Given the description of an element on the screen output the (x, y) to click on. 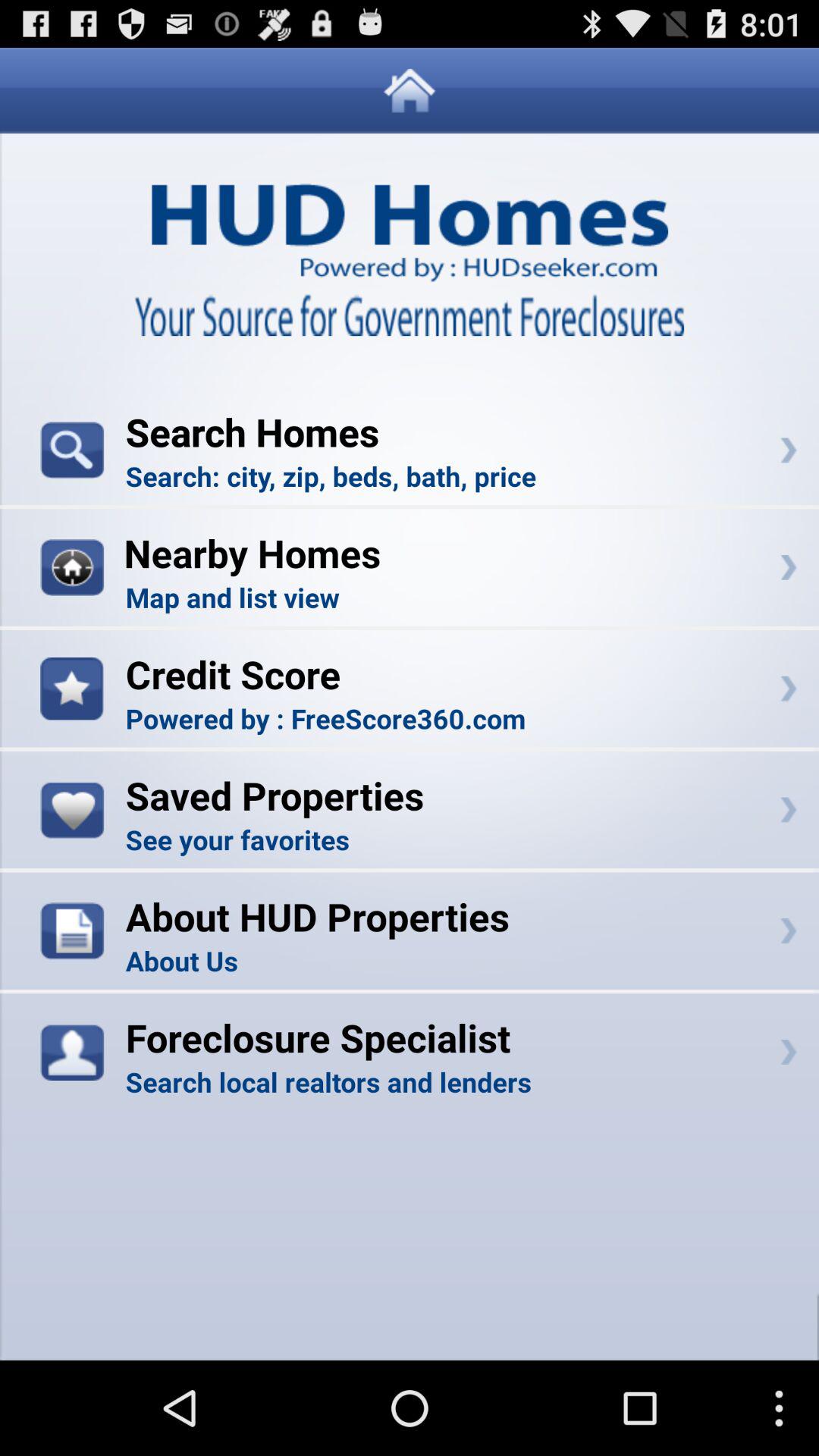
select the text above powered by  hudseekercom (409, 215)
click on the image which is beside about hud properties (72, 930)
click on the first next button at the right side of the page (788, 450)
click on the last image (72, 1051)
